Given the description of an element on the screen output the (x, y) to click on. 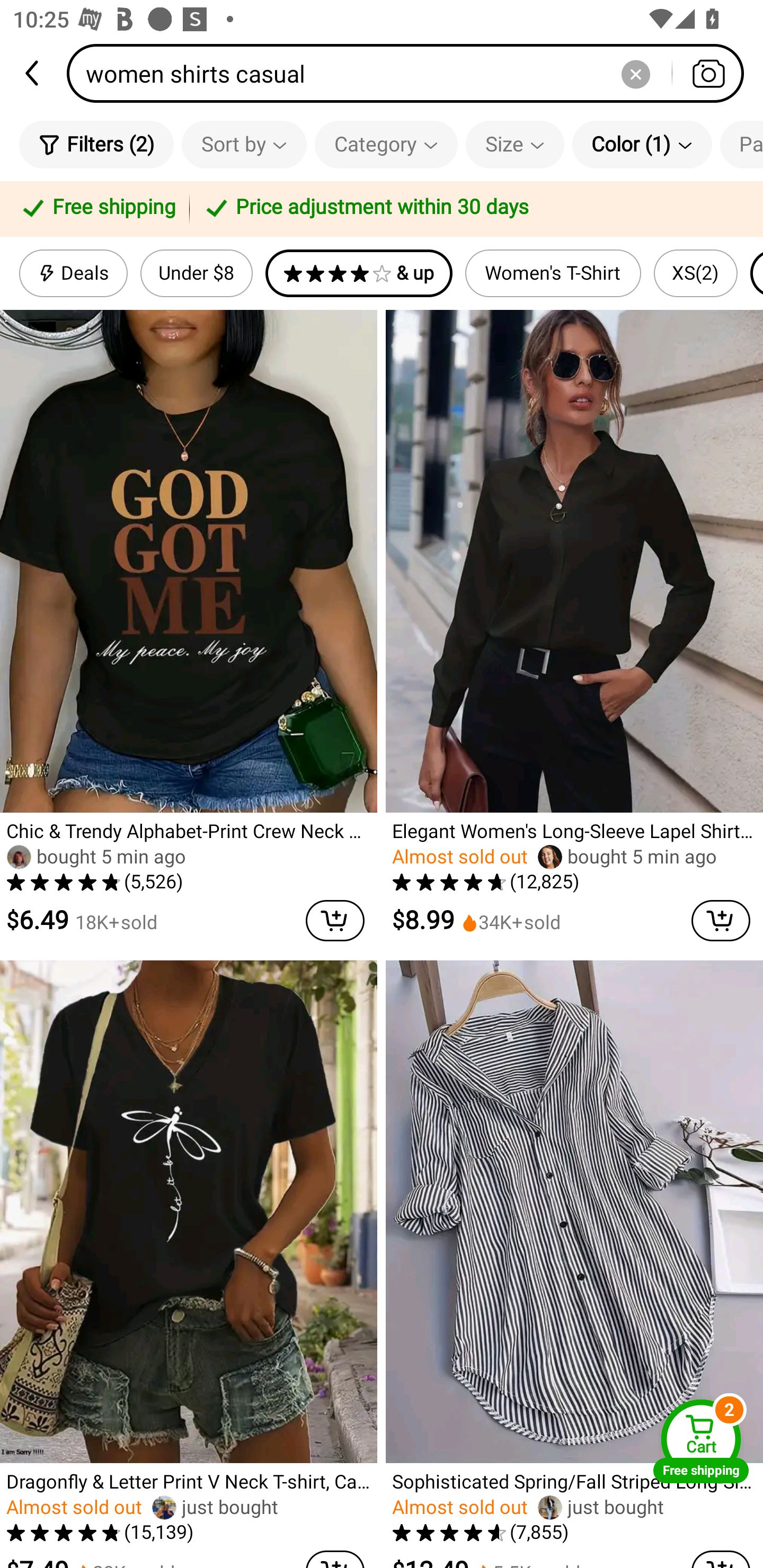
back (33, 72)
women shirts casual (411, 73)
Delete search history (635, 73)
Search by photo (708, 73)
Filters (2) (96, 143)
Sort by (243, 143)
Category (385, 143)
Size (514, 143)
Color (1) (641, 143)
Free shipping (97, 208)
Price adjustment within 30 days (472, 208)
Deals (73, 273)
Under $8 (196, 273)
& up (358, 273)
Women's T-Shirt (552, 273)
XS(2) (695, 273)
cart delete (334, 920)
cart delete (720, 920)
Cart Free shipping Cart (701, 1440)
